Given the description of an element on the screen output the (x, y) to click on. 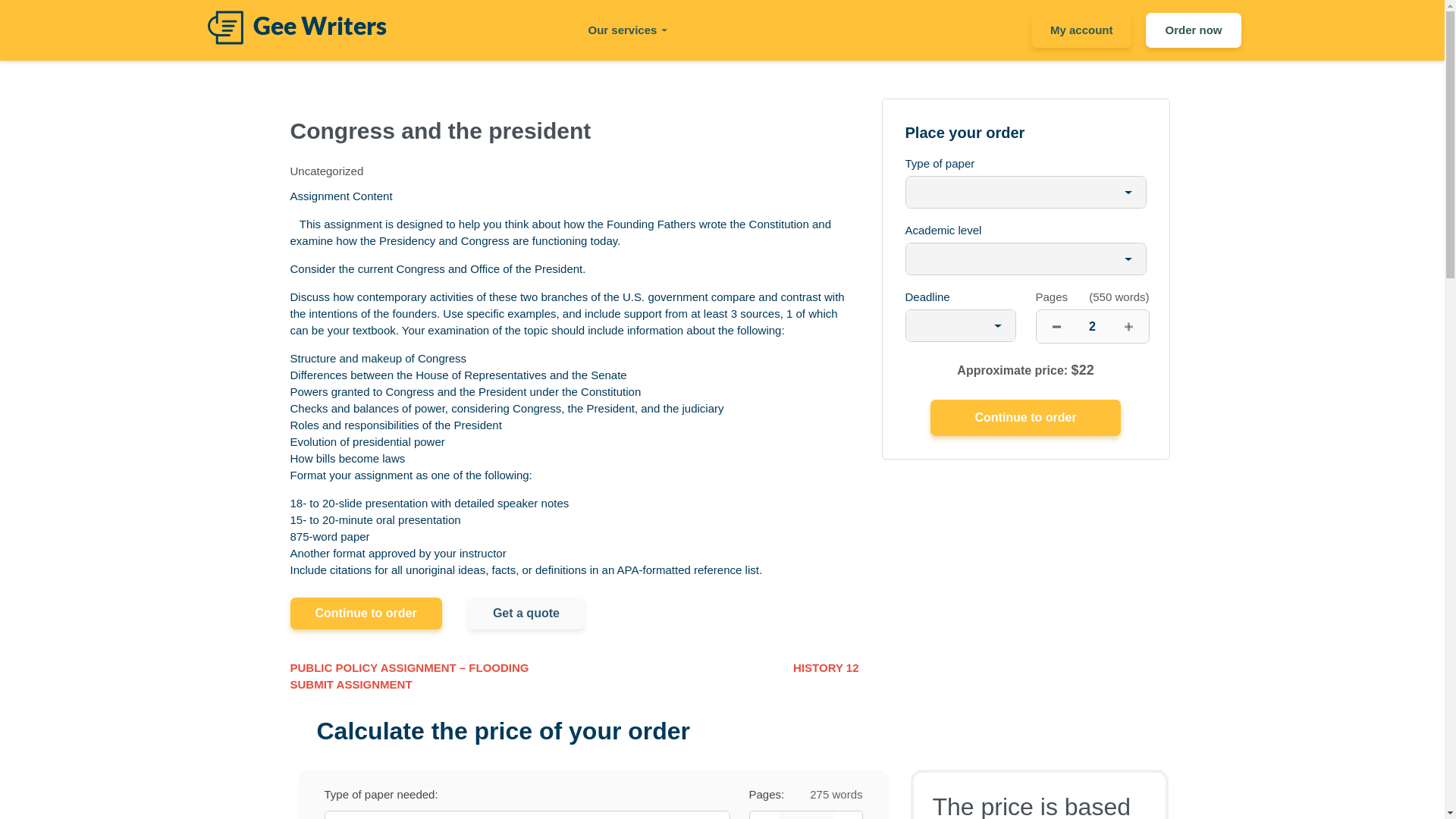
Decrease (763, 815)
2 (1091, 326)
Continue to order (365, 613)
2 (804, 815)
HISTORY 12 (826, 668)
Order now (1192, 30)
Continue to order (1024, 417)
Get a quote (526, 613)
My account (1081, 30)
Continue to order (1024, 417)
Increase (846, 815)
